Given the description of an element on the screen output the (x, y) to click on. 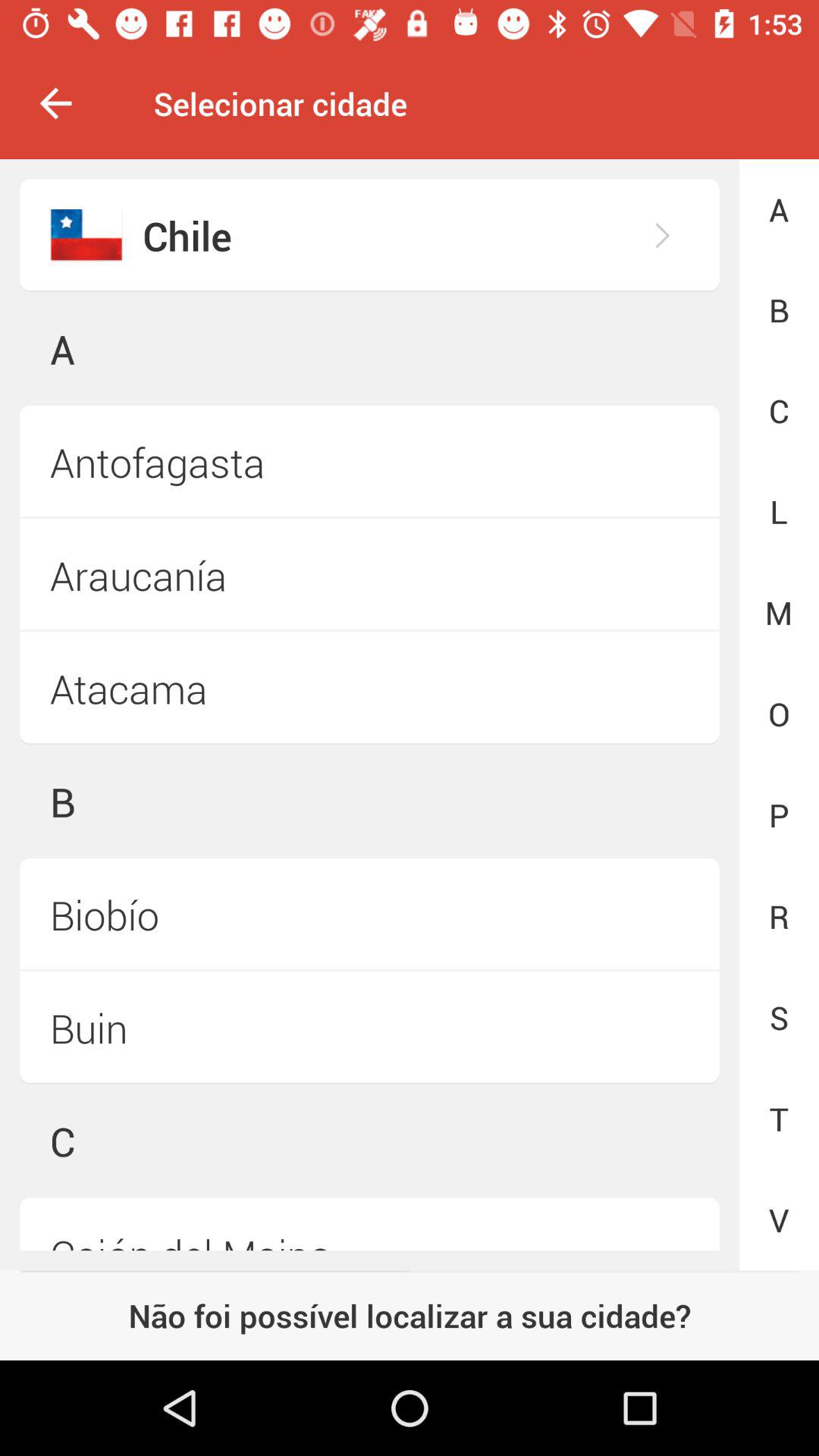
turn off atacama icon (369, 688)
